Given the description of an element on the screen output the (x, y) to click on. 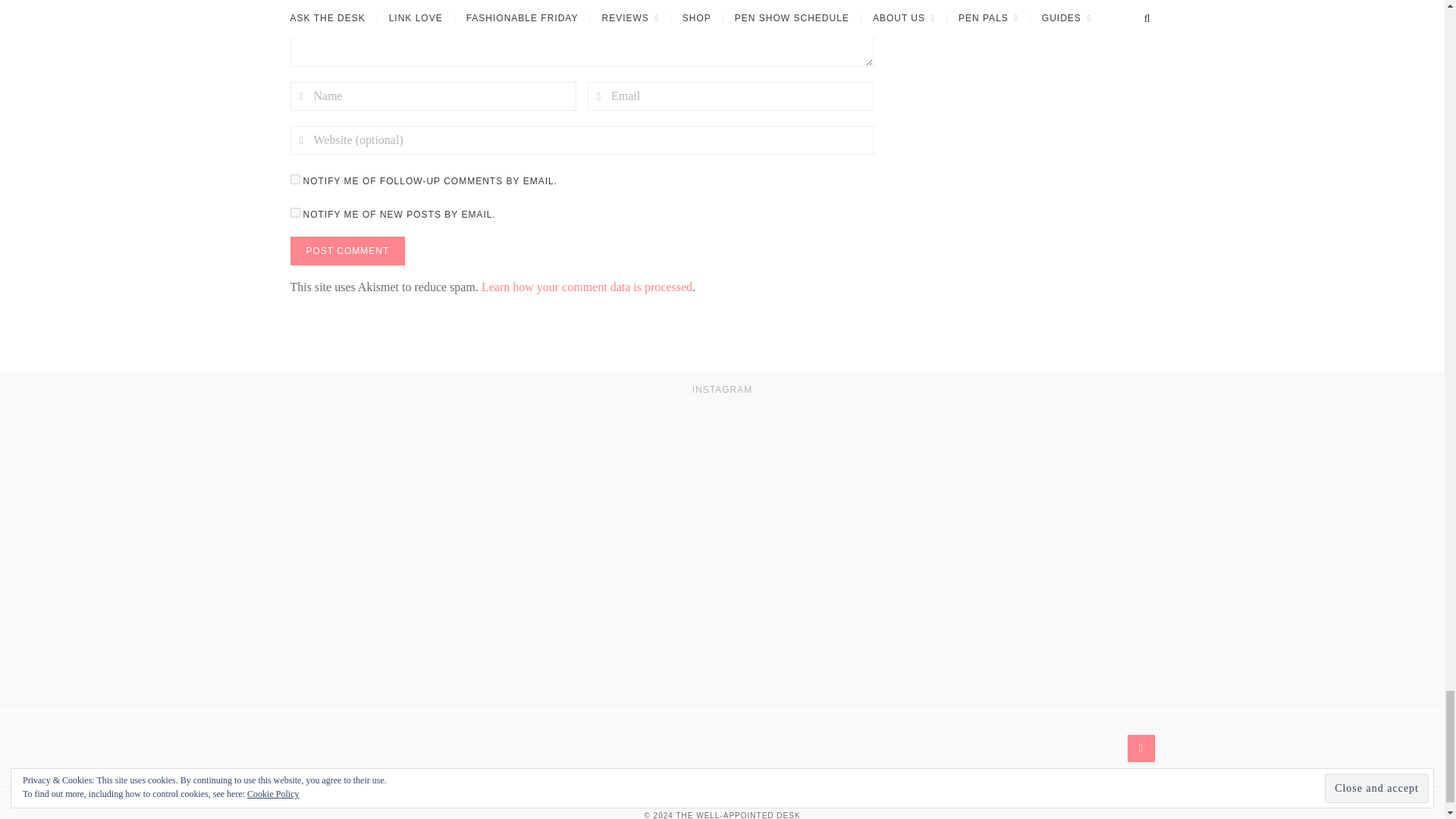
subscribe (294, 179)
Post Comment (346, 250)
subscribe (294, 212)
